Given the description of an element on the screen output the (x, y) to click on. 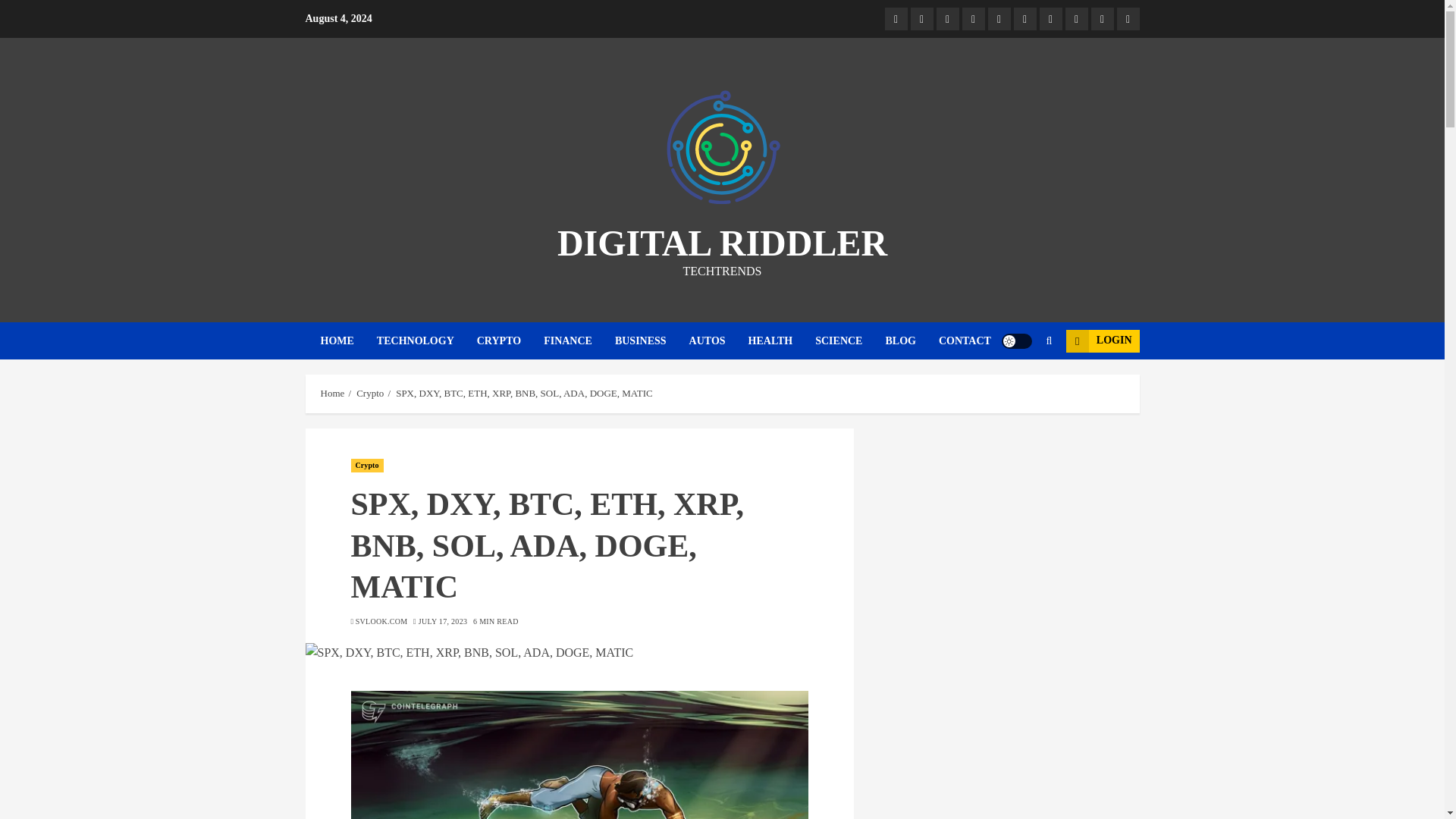
DIGITAL RIDDLER (721, 242)
SPX, DXY, BTC, ETH, XRP, BNB, SOL, ADA, DOGE, MATIC (579, 755)
SPX, DXY, BTC, ETH, XRP, BNB, SOL, ADA, DOGE, MATIC (578, 652)
TECHNOLOGY (427, 340)
HOME (347, 340)
FINANCE (578, 340)
AUTOS (718, 340)
HEALTH (781, 340)
BUSINESS (651, 340)
SCIENCE (850, 340)
CRYPTO (510, 340)
